Given the description of an element on the screen output the (x, y) to click on. 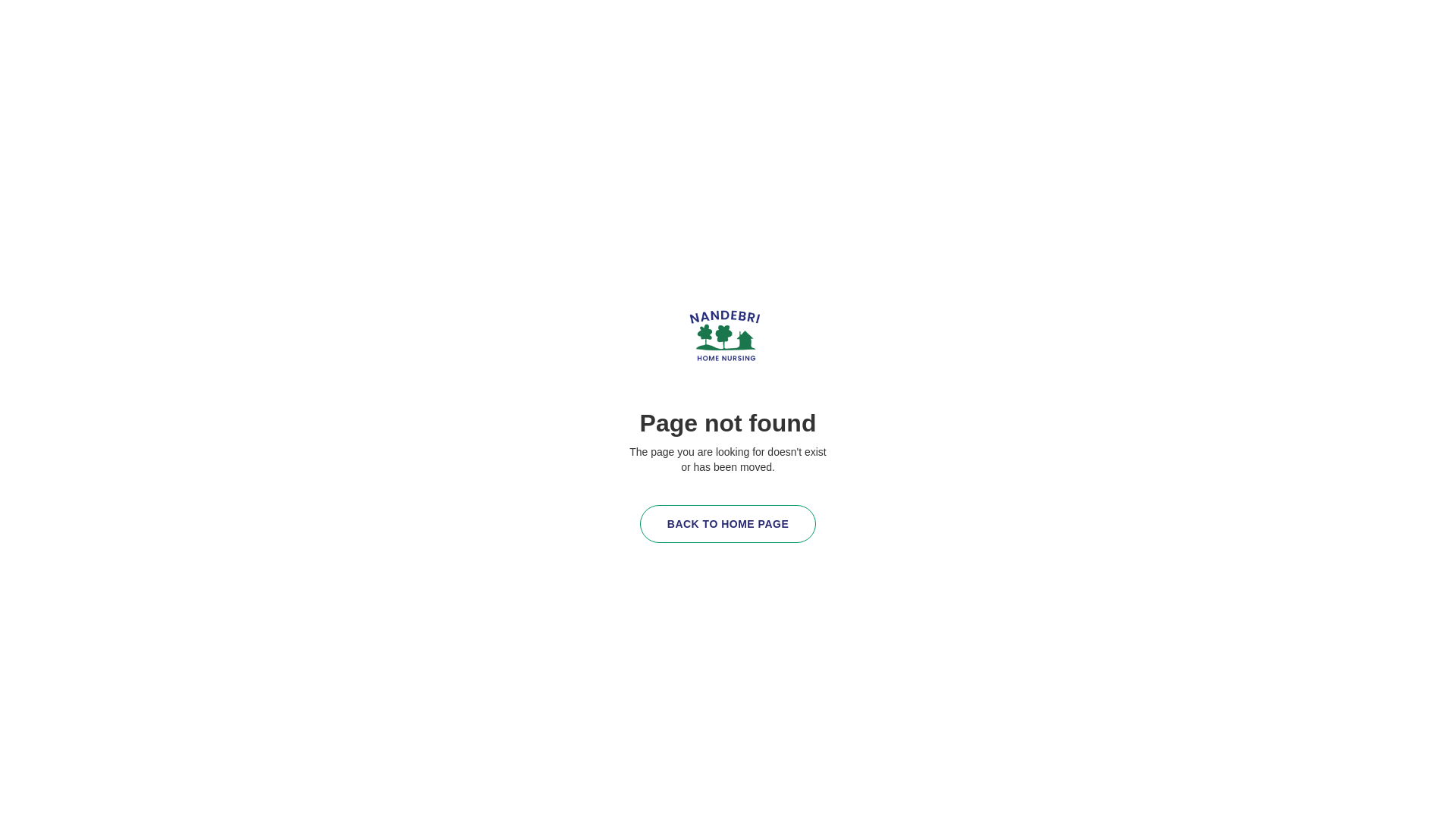
BACK TO HOME PAGE Element type: text (727, 523)
